Given the description of an element on the screen output the (x, y) to click on. 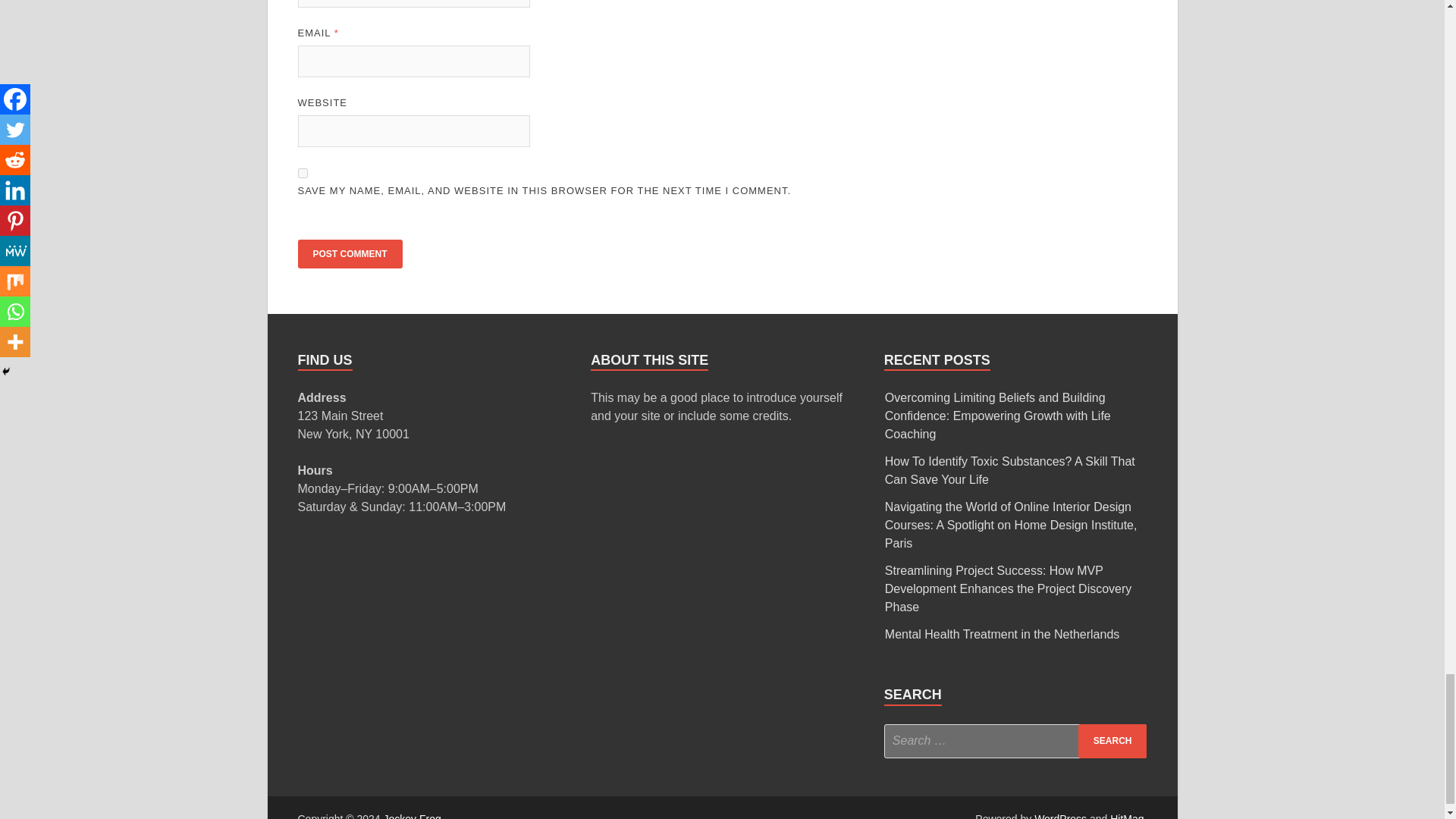
Search (1112, 740)
Post Comment (349, 253)
Search (1112, 740)
yes (302, 173)
